Given the description of an element on the screen output the (x, y) to click on. 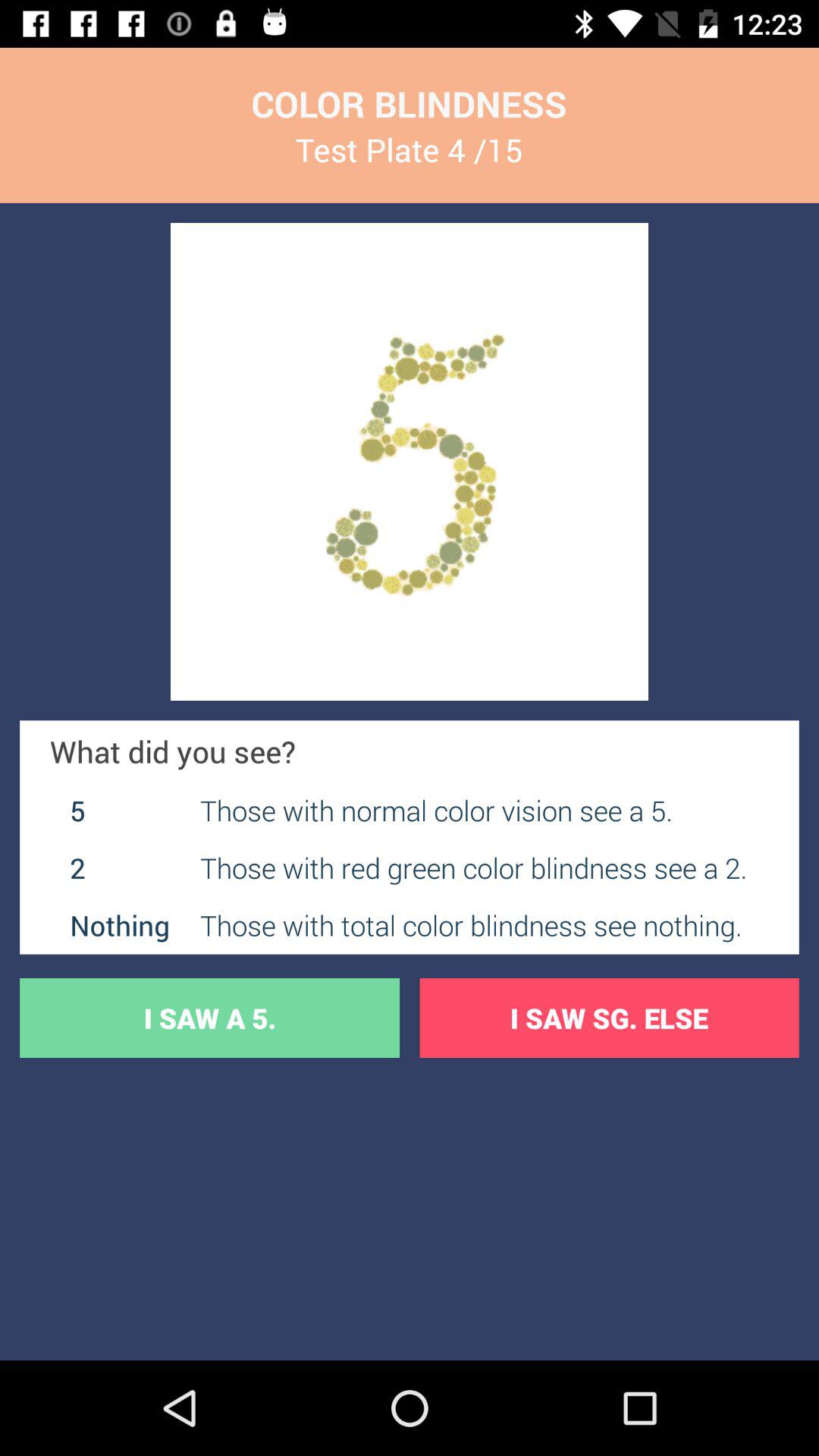
image display (409, 461)
